Given the description of an element on the screen output the (x, y) to click on. 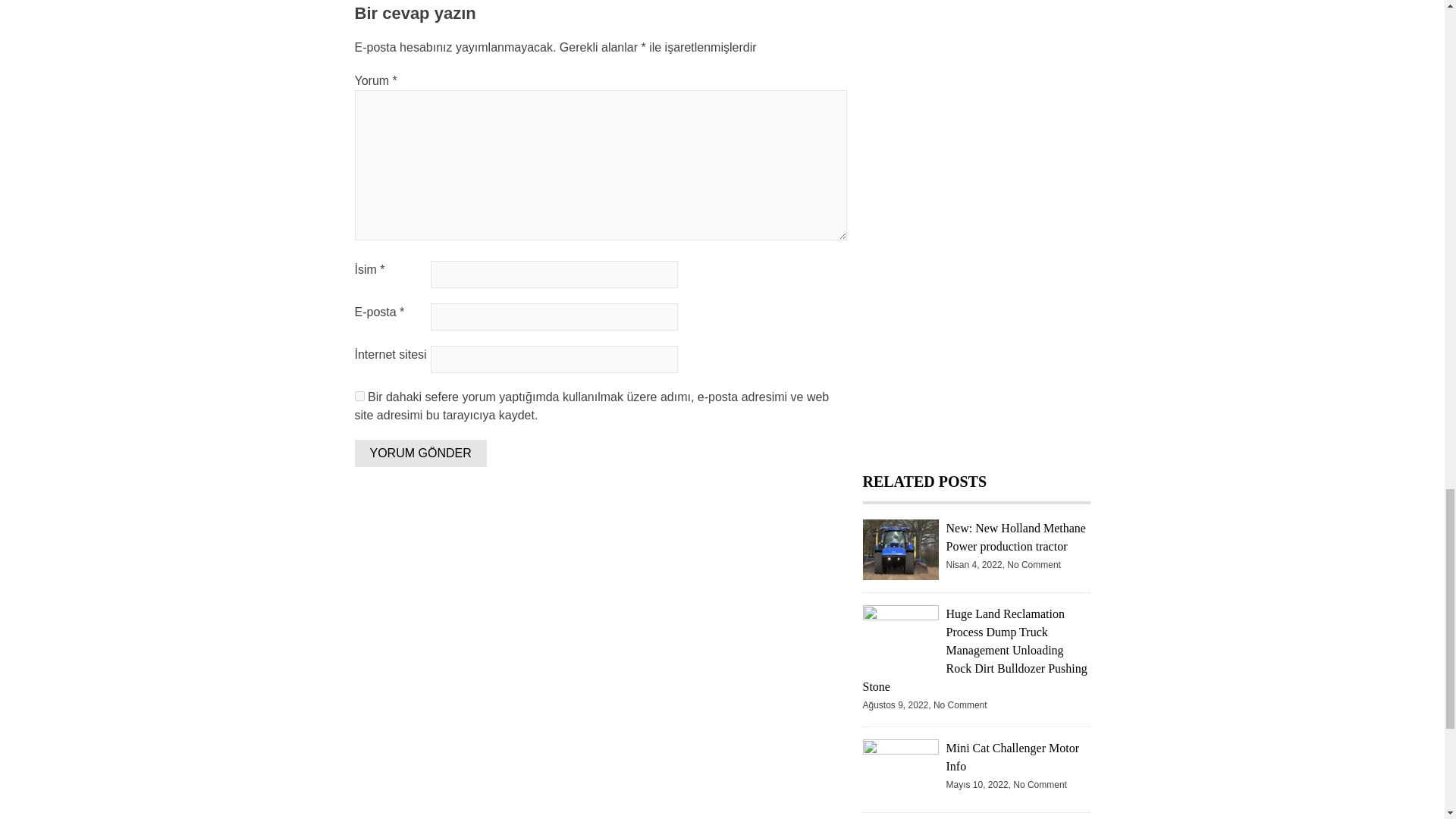
yes (360, 396)
Mini Cat Challenger Motor Info (1013, 757)
New: New Holland Methane Power production tractor (1016, 536)
